Given the description of an element on the screen output the (x, y) to click on. 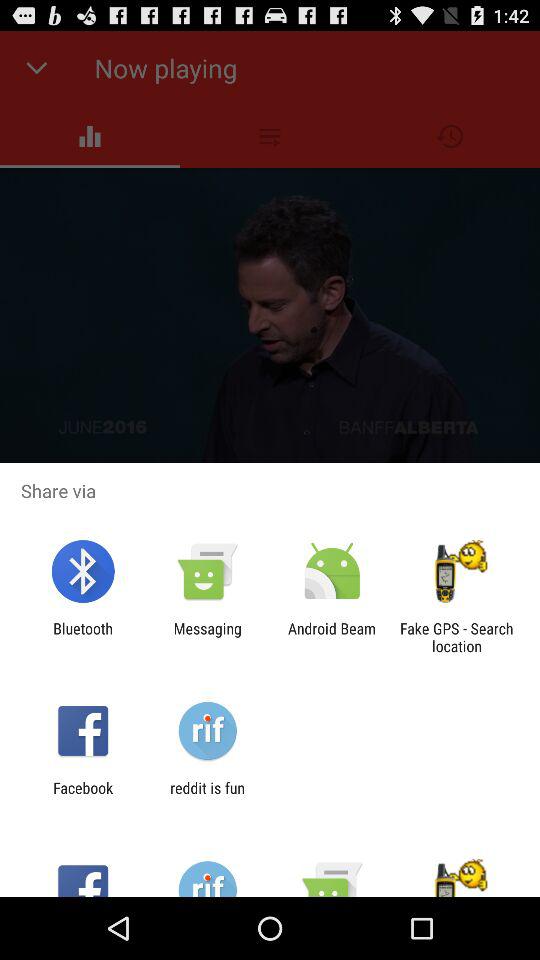
tap the app to the left of android beam app (207, 637)
